Given the description of an element on the screen output the (x, y) to click on. 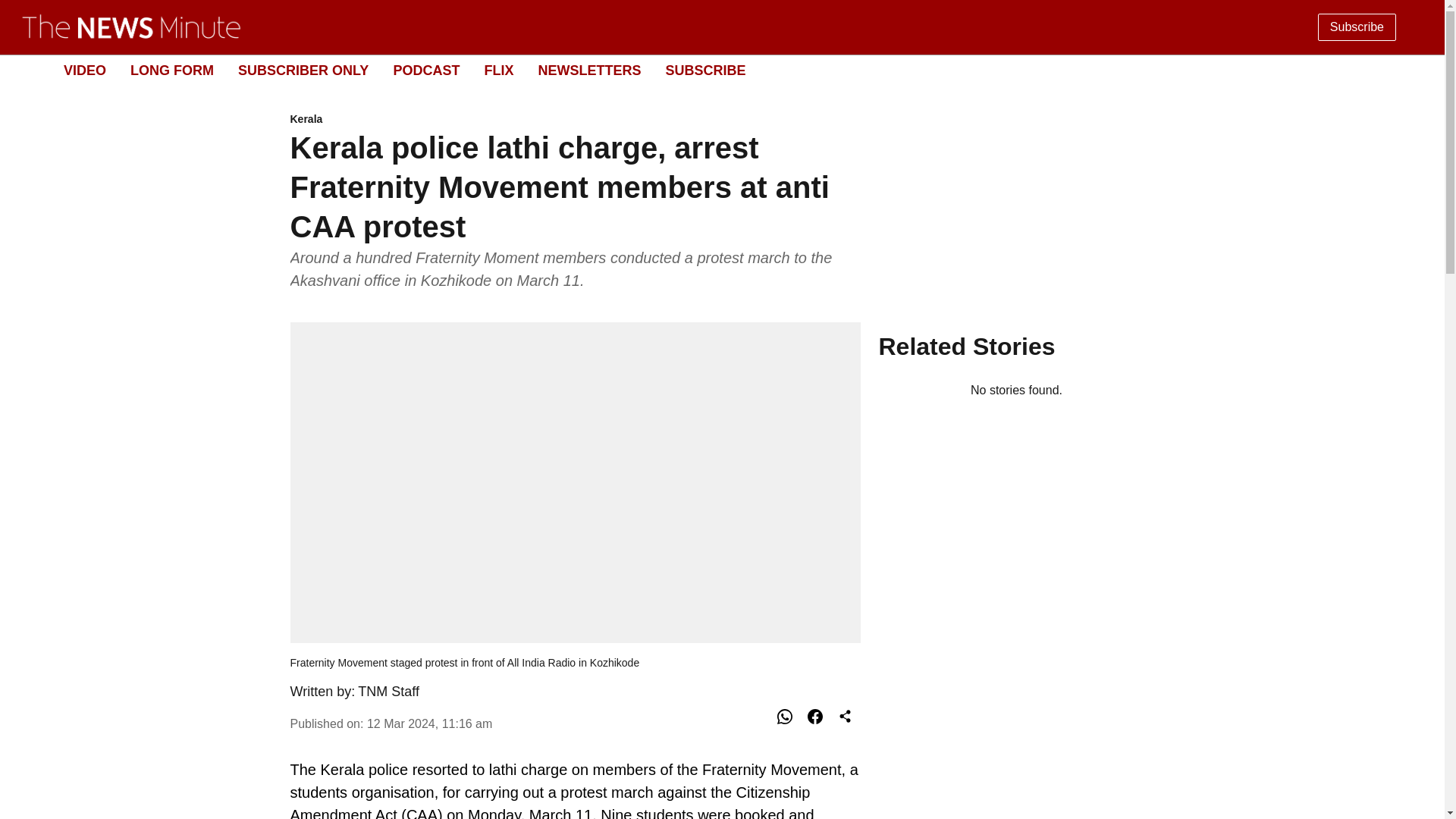
LONG FORM (172, 70)
NEWSLETTERS (588, 70)
VIDEO (85, 70)
PODCAST (426, 70)
2024-03-12 11:16 (429, 723)
Kerala (574, 119)
SUBSCRIBE (705, 70)
TNM Staff (388, 691)
FLIX (498, 70)
SUBSCRIBER ONLY (303, 70)
